Given the description of an element on the screen output the (x, y) to click on. 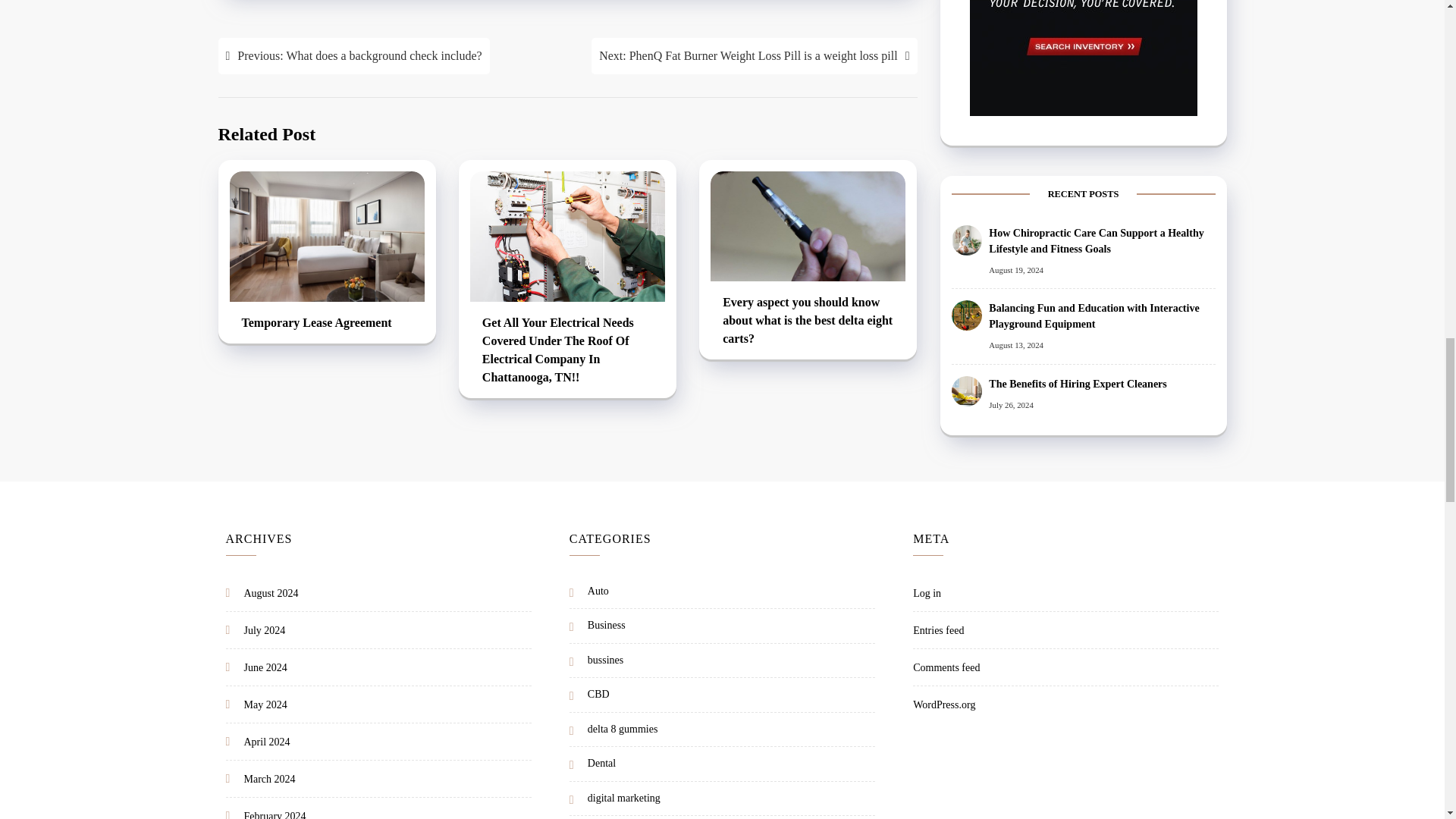
Previous: What does a background check include? (353, 55)
Temporary Lease Agreement (326, 324)
